Given the description of an element on the screen output the (x, y) to click on. 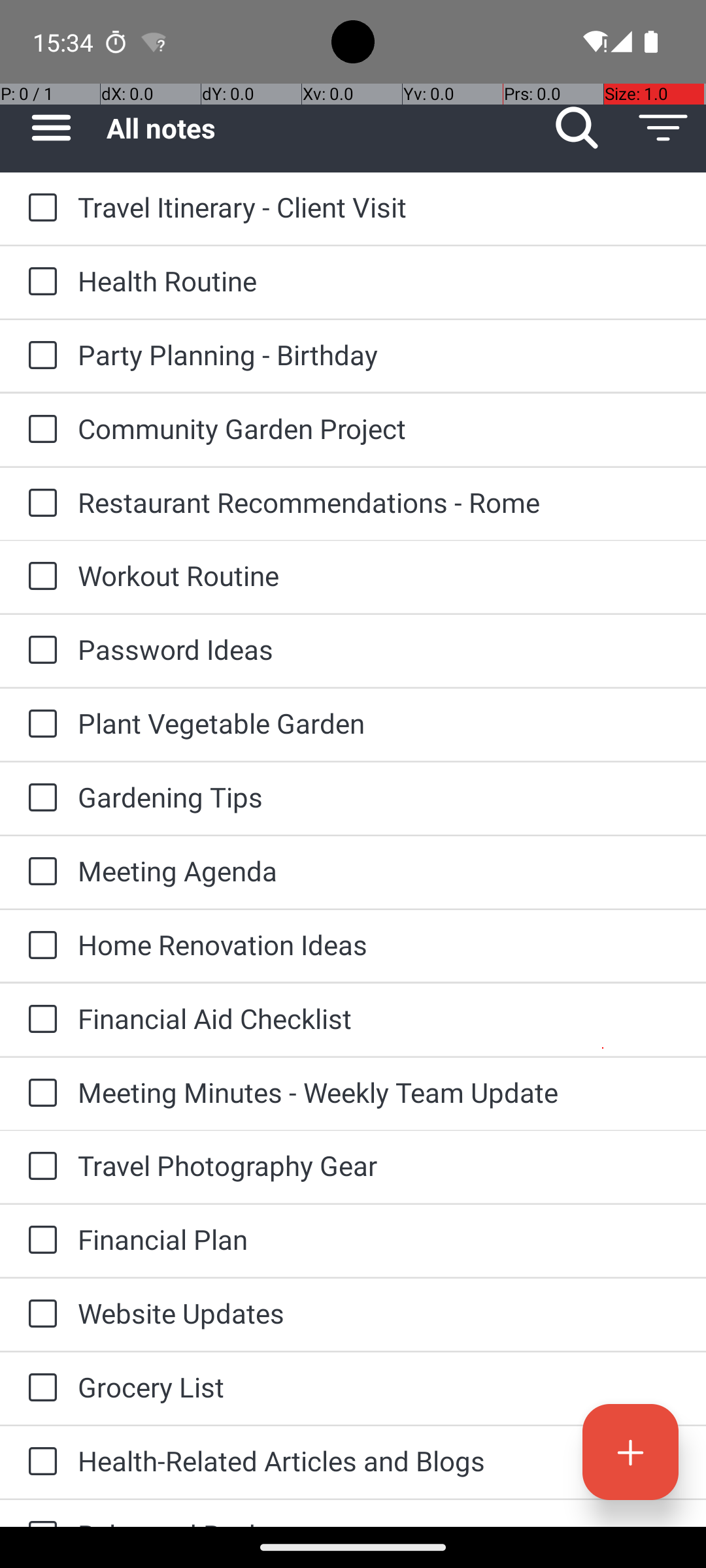
to-do: Travel Itinerary - Client Visit Element type: android.widget.CheckBox (38, 208)
Travel Itinerary - Client Visit Element type: android.widget.TextView (378, 206)
to-do: Health Routine Element type: android.widget.CheckBox (38, 282)
Health Routine Element type: android.widget.TextView (378, 280)
to-do: Party Planning - Birthday Element type: android.widget.CheckBox (38, 356)
Party Planning - Birthday Element type: android.widget.TextView (378, 354)
to-do: Community Garden Project Element type: android.widget.CheckBox (38, 429)
to-do: Workout Routine Element type: android.widget.CheckBox (38, 576)
Workout Routine Element type: android.widget.TextView (378, 574)
to-do: Password Ideas Element type: android.widget.CheckBox (38, 650)
Password Ideas Element type: android.widget.TextView (378, 648)
to-do: Plant Vegetable Garden Element type: android.widget.CheckBox (38, 724)
Plant Vegetable Garden Element type: android.widget.TextView (378, 722)
to-do: Home Renovation Ideas Element type: android.widget.CheckBox (38, 945)
to-do: Financial Plan Element type: android.widget.CheckBox (38, 1240)
Financial Plan Element type: android.widget.TextView (378, 1238)
to-do: Website Updates Element type: android.widget.CheckBox (38, 1314)
Website Updates Element type: android.widget.TextView (378, 1312)
to-do: Health-Related Articles and Blogs Element type: android.widget.CheckBox (38, 1462)
Health-Related Articles and Blogs Element type: android.widget.TextView (378, 1460)
to-do: Relax and Recharge Element type: android.widget.CheckBox (38, 1513)
Relax and Recharge Element type: android.widget.TextView (378, 1520)
